Given the description of an element on the screen output the (x, y) to click on. 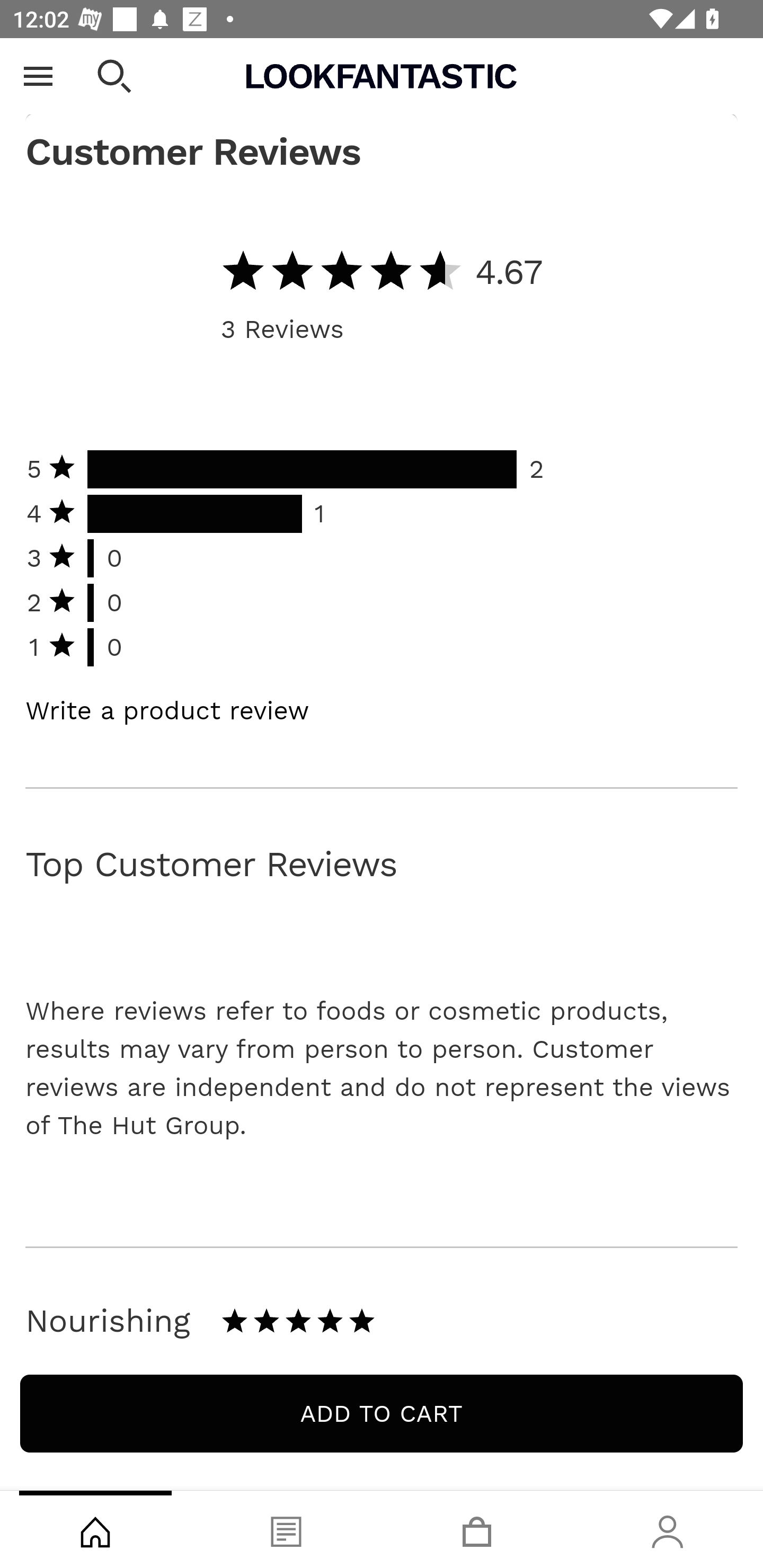
Total Price: $48.00 (381, 66)
Write a product review (167, 712)
Add to cart (381, 1414)
Shop, tab, 1 of 4 (95, 1529)
Blog, tab, 2 of 4 (285, 1529)
Basket, tab, 3 of 4 (476, 1529)
Account, tab, 4 of 4 (667, 1529)
